Given the description of an element on the screen output the (x, y) to click on. 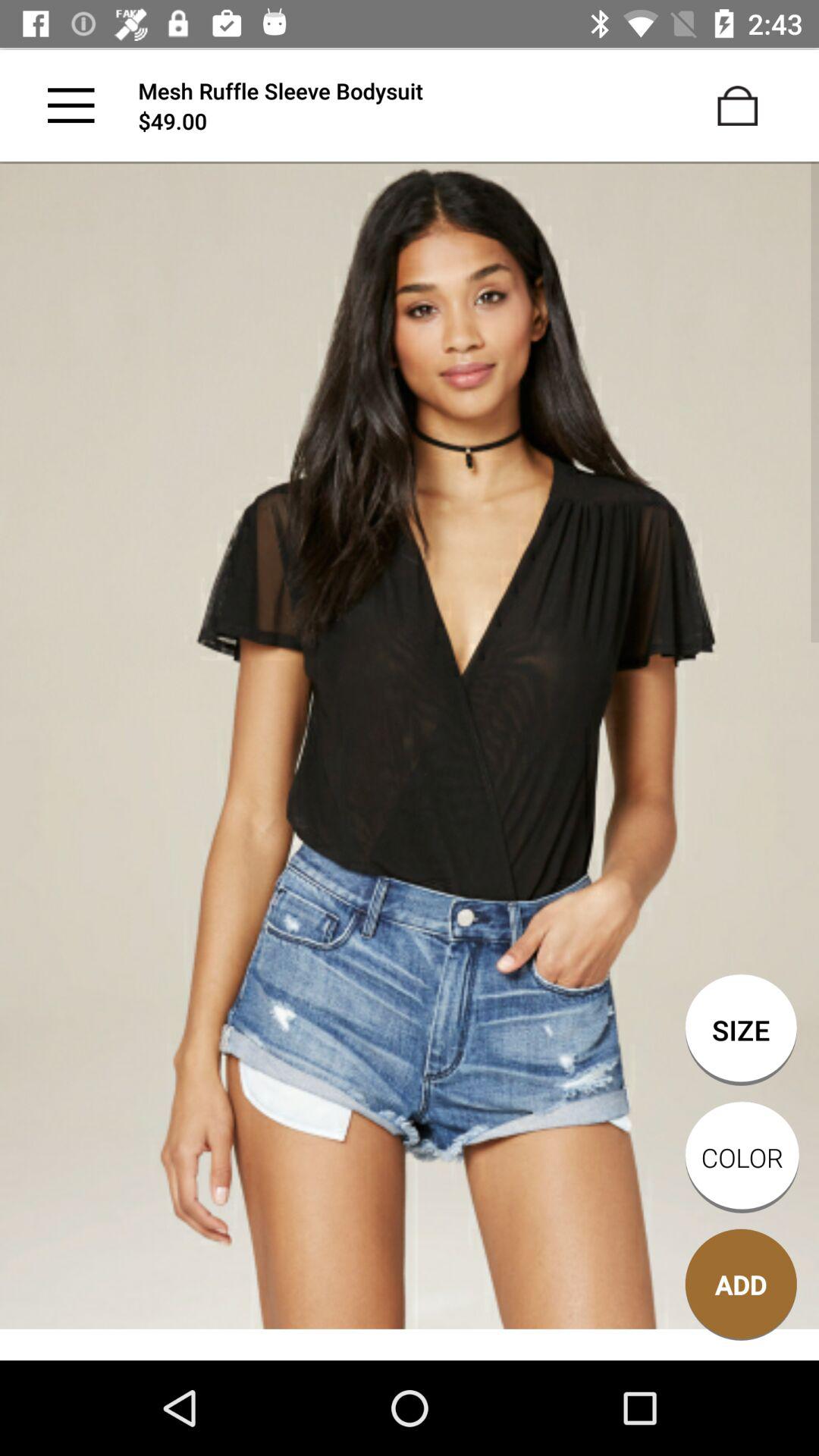
toggles a more option (70, 105)
